Given the description of an element on the screen output the (x, y) to click on. 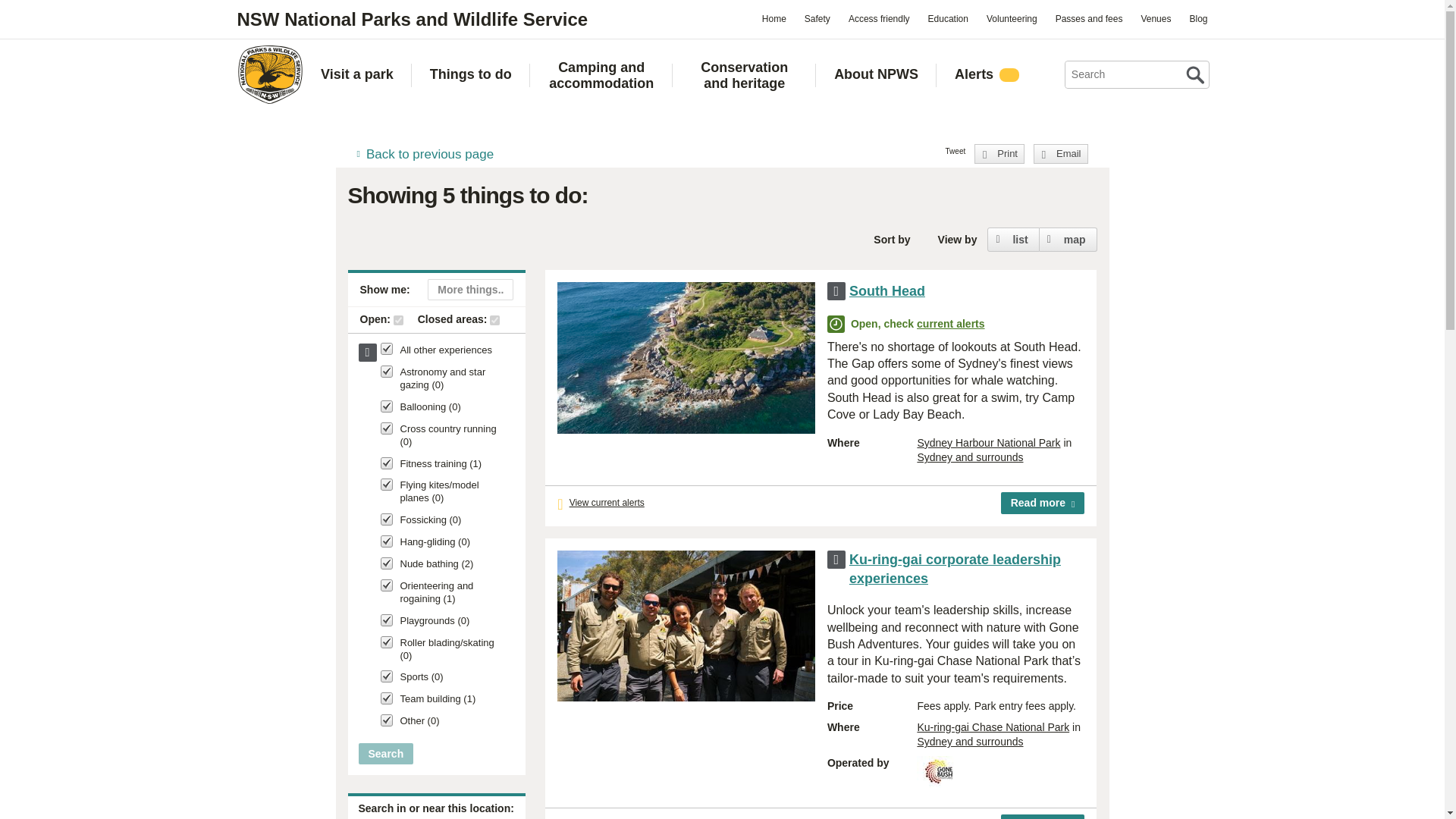
Volunteering (1011, 18)
true (494, 320)
